Given the description of an element on the screen output the (x, y) to click on. 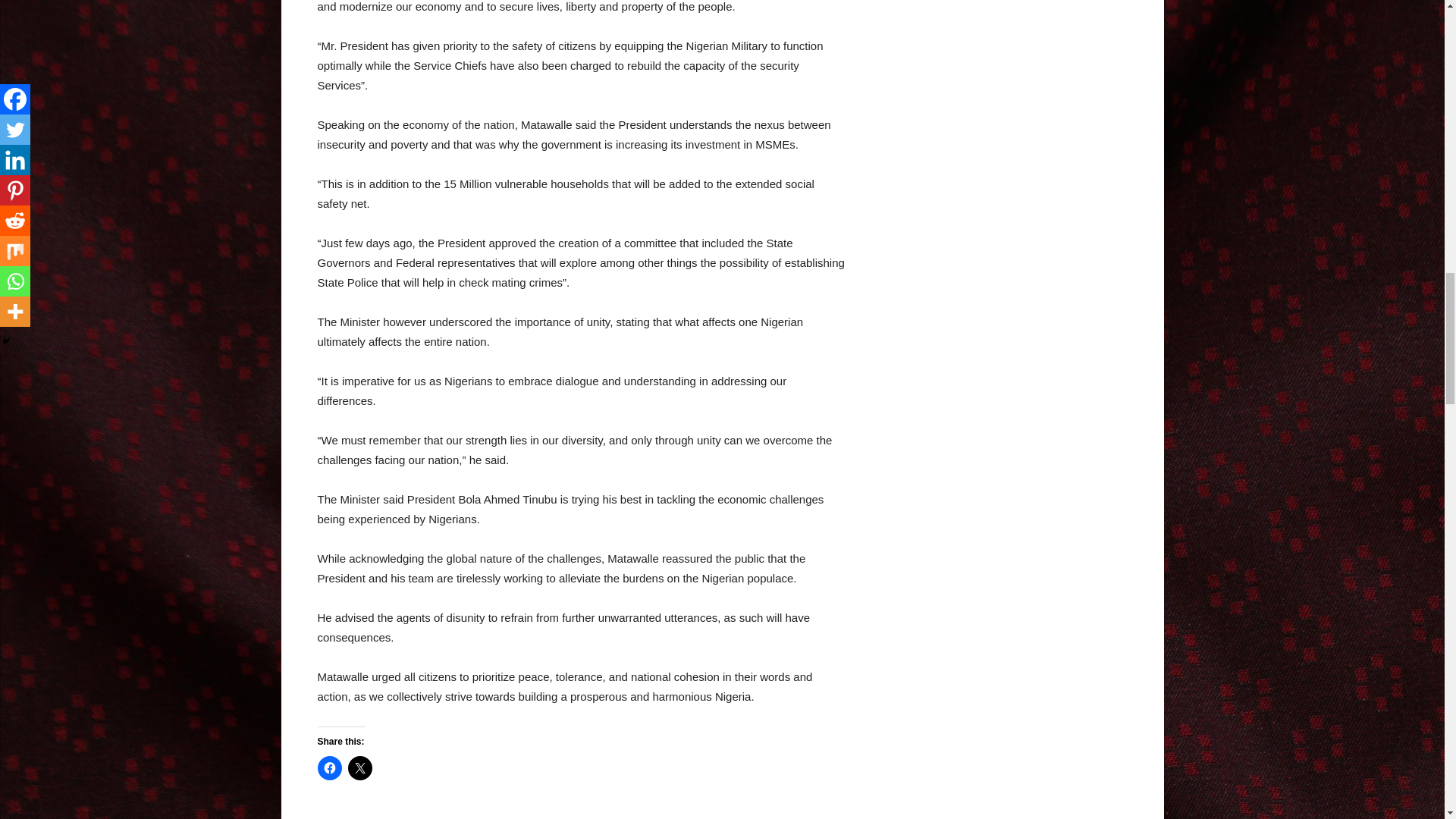
Click to share on X (359, 767)
Click to share on Facebook (328, 767)
